Given the description of an element on the screen output the (x, y) to click on. 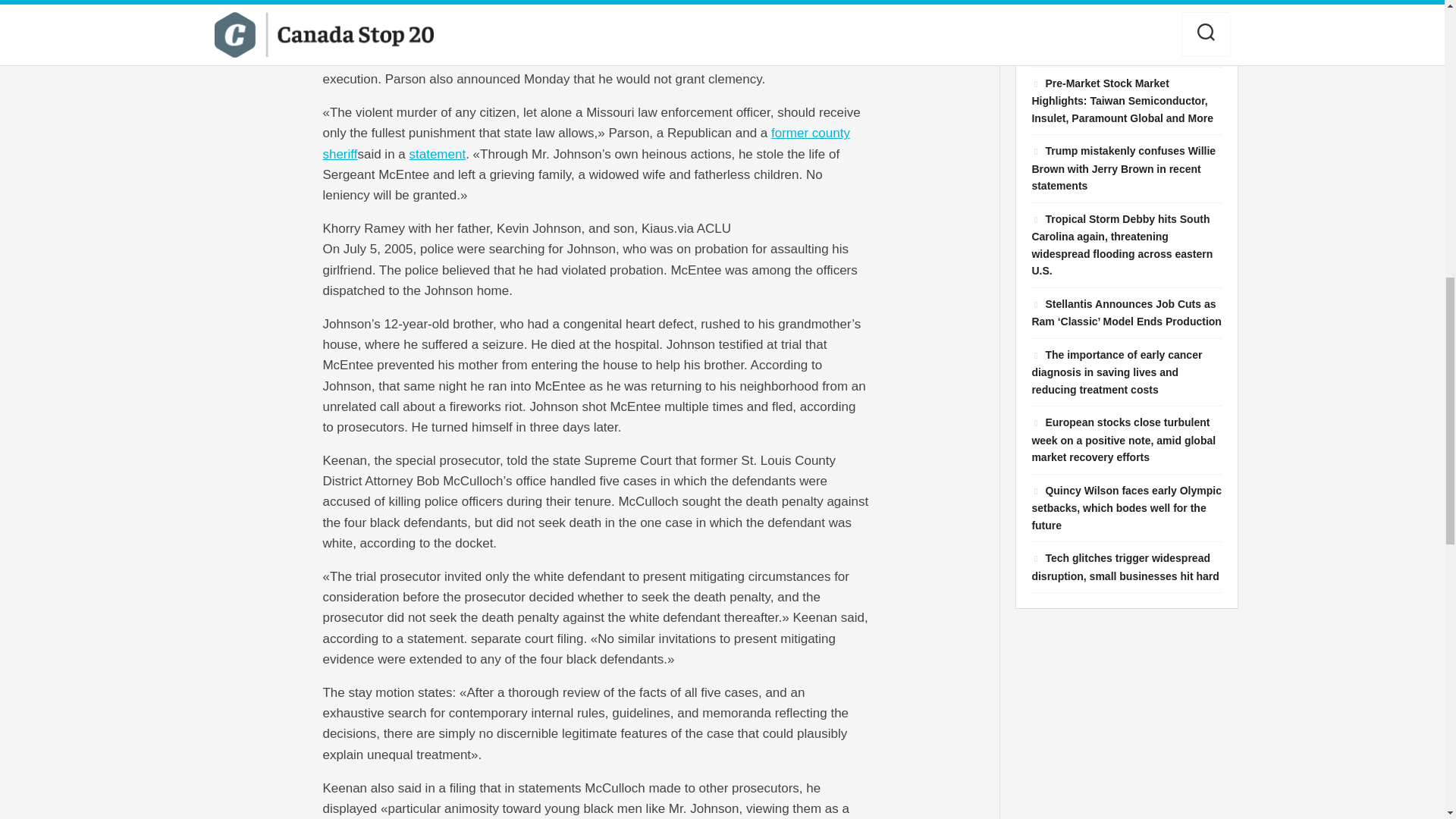
statement (437, 154)
former county sheriff (585, 143)
decision (484, 58)
